Given the description of an element on the screen output the (x, y) to click on. 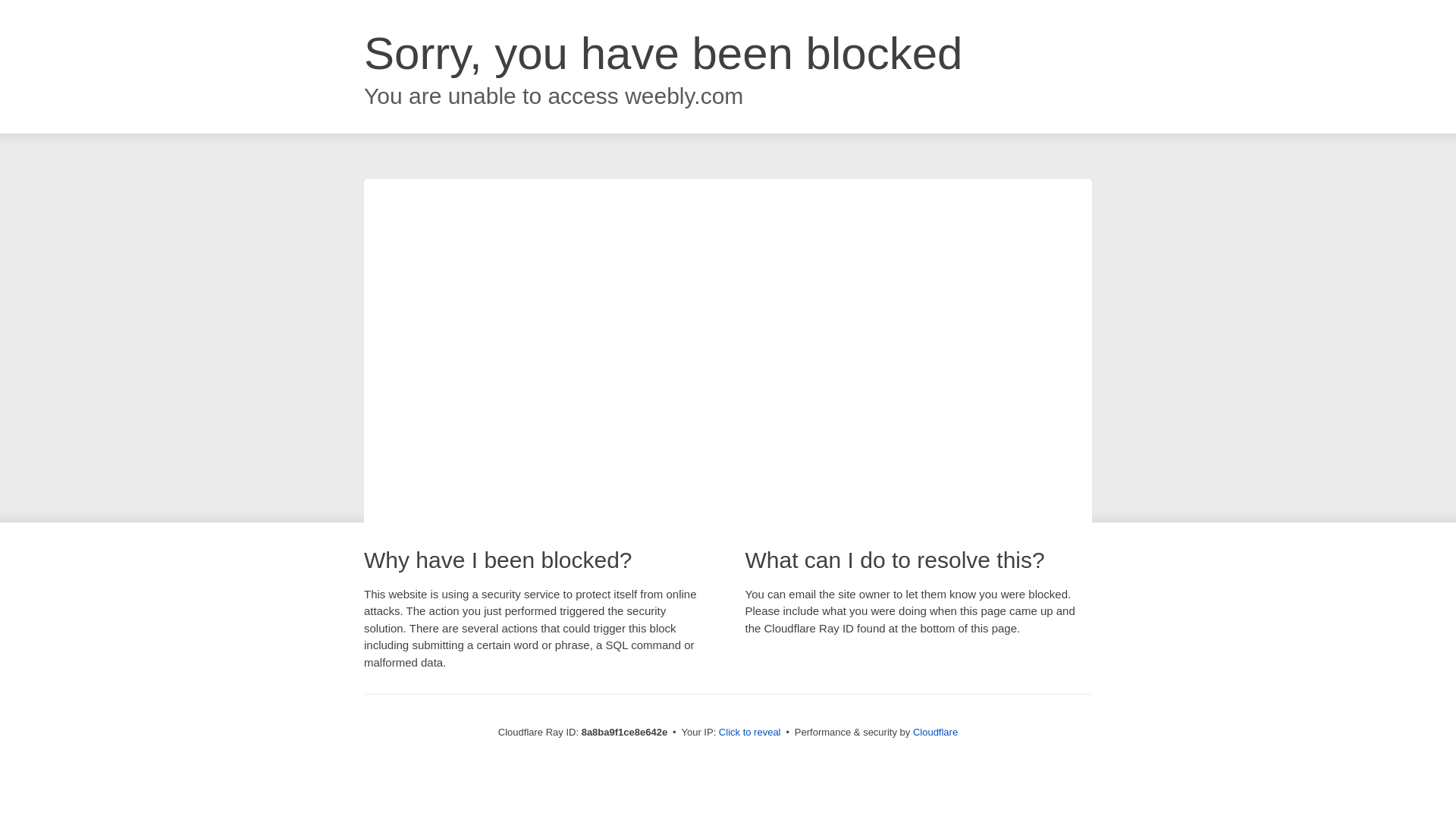
Cloudflare (935, 731)
Click to reveal (749, 732)
